Given the description of an element on the screen output the (x, y) to click on. 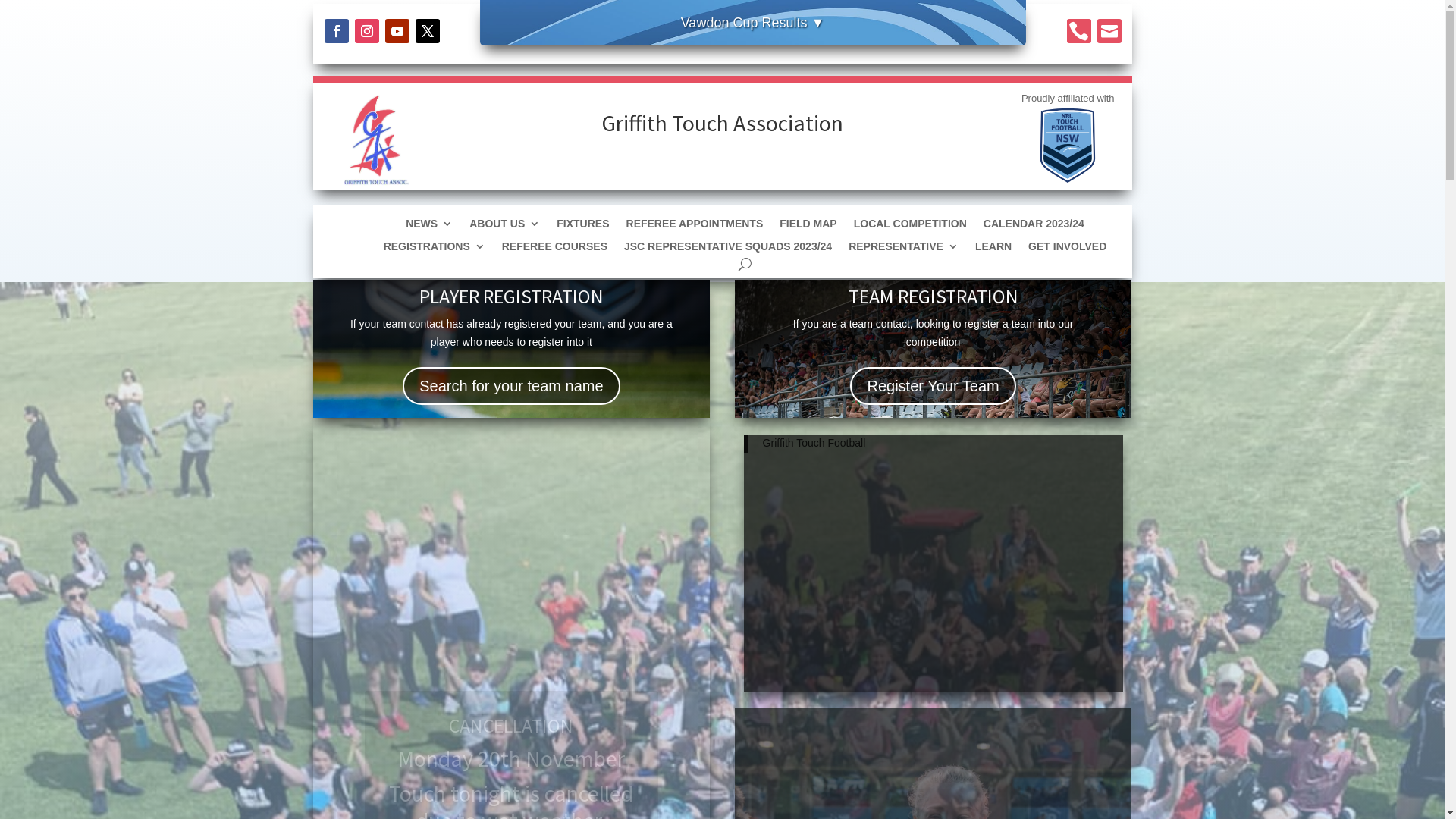
REPRESENTATIVE Element type: text (903, 249)
LOCAL COMPETITION Element type: text (909, 226)
Follow on Youtube Element type: hover (397, 30)
Follow on X Element type: hover (427, 30)
ABOUT US Element type: text (504, 226)
CALENDAR 2023/24 Element type: text (1033, 226)
JSC REPRESENTATIVE SQUADS 2023/24 Element type: text (727, 249)
Follow on Facebook Element type: hover (336, 30)
Search for your team name Element type: text (510, 385)
FIXTURES Element type: text (582, 226)
FIELD MAP Element type: text (807, 226)
Follow on Instagram Element type: hover (366, 30)
REFEREE COURSES Element type: text (554, 249)
LEARN Element type: text (993, 249)
REGISTRATIONS Element type: text (434, 249)
NEWS Element type: text (428, 226)
Griffith Touch Football Element type: text (814, 442)
GET INVOLVED Element type: text (1067, 249)
REFEREE APPOINTMENTS Element type: text (694, 226)
Register Your Team Element type: text (932, 385)
Search Element type: text (24, 13)
